Given the description of an element on the screen output the (x, y) to click on. 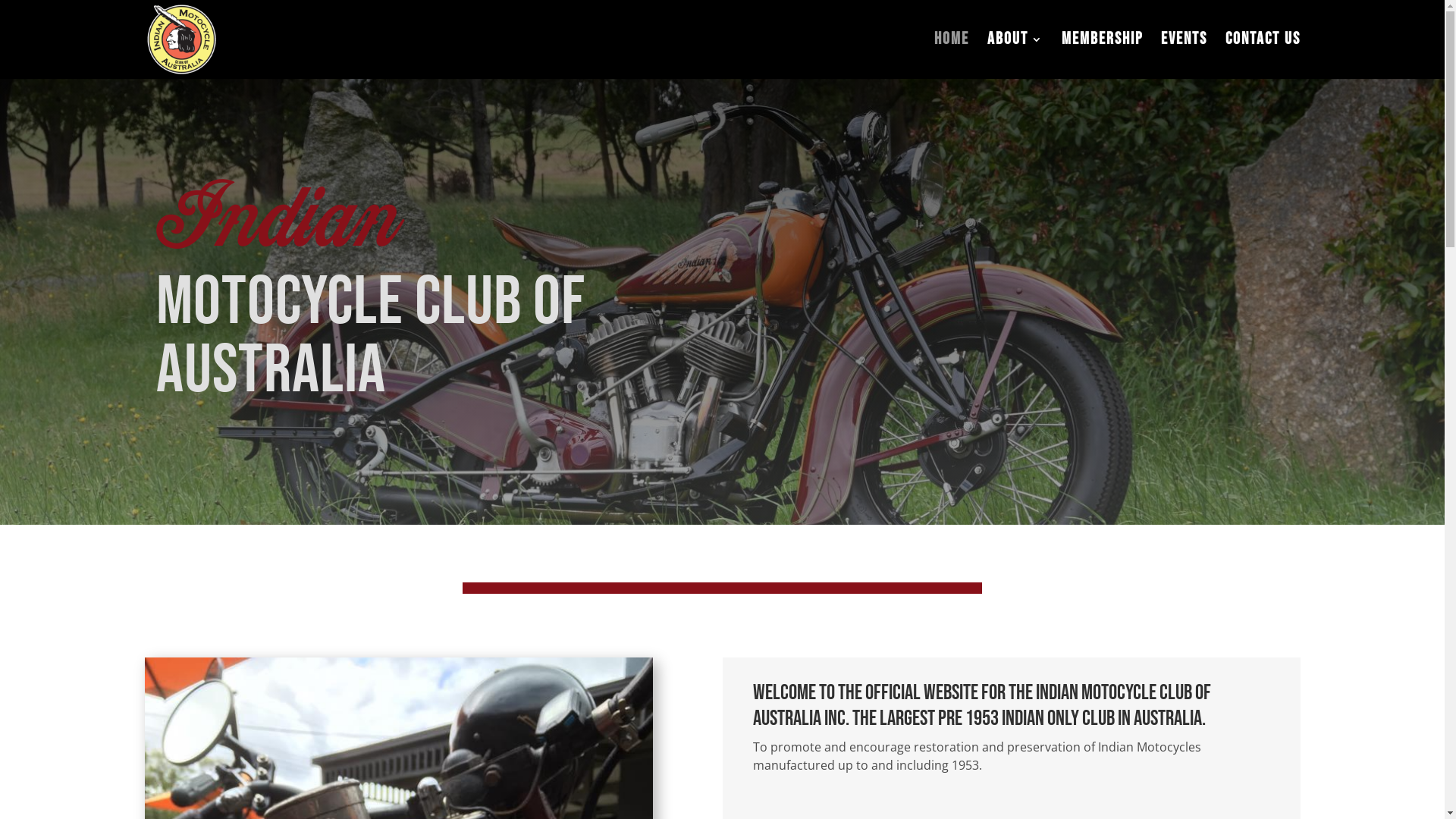
Contact Us Element type: text (1262, 56)
About Element type: text (1015, 56)
Events Element type: text (1183, 56)
Membership Element type: text (1101, 56)
Home Element type: text (951, 56)
